Given the description of an element on the screen output the (x, y) to click on. 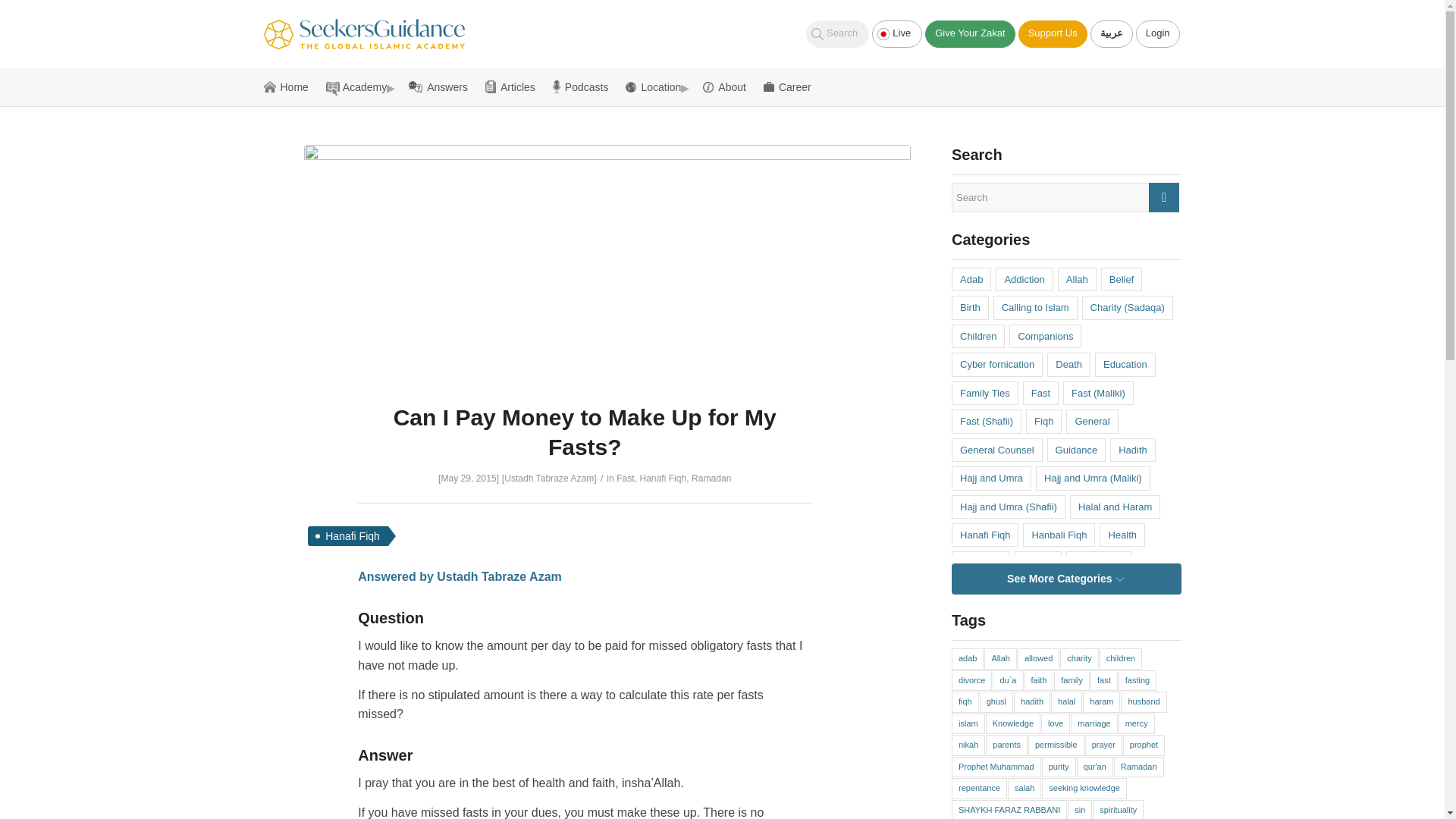
Home (290, 86)
Career (786, 86)
Hanafi Fiqh (662, 478)
Location (658, 86)
Articles (514, 86)
Fast (624, 478)
Ramadan (710, 478)
Podcasts (585, 86)
Login (1157, 33)
